Given the description of an element on the screen output the (x, y) to click on. 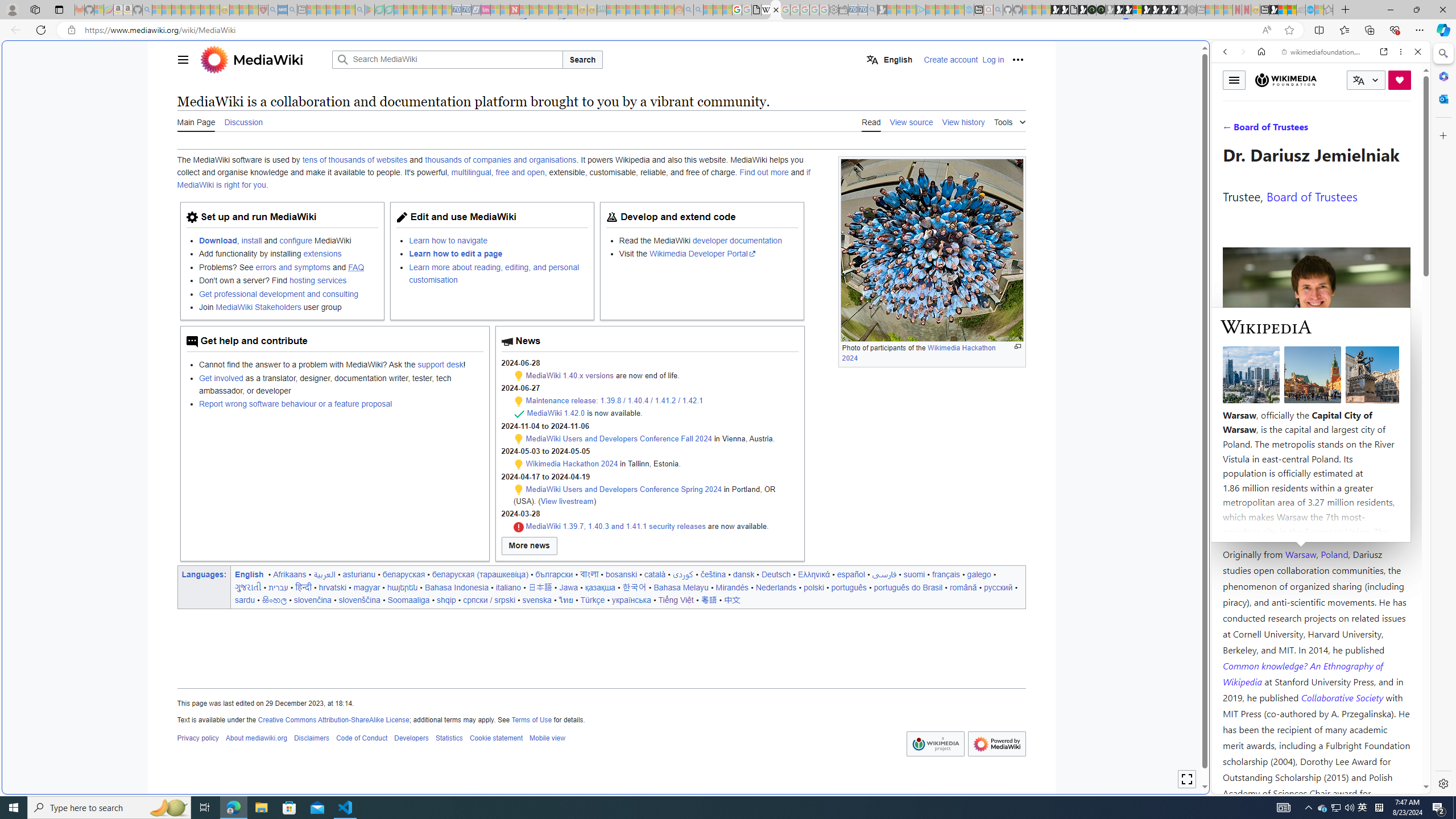
View source (911, 121)
Bahasa Indonesia (456, 587)
Frequently visited (965, 151)
Create account (950, 58)
Wikimedia Hackathon 2024 (571, 463)
Mobile view (546, 738)
